Given the description of an element on the screen output the (x, y) to click on. 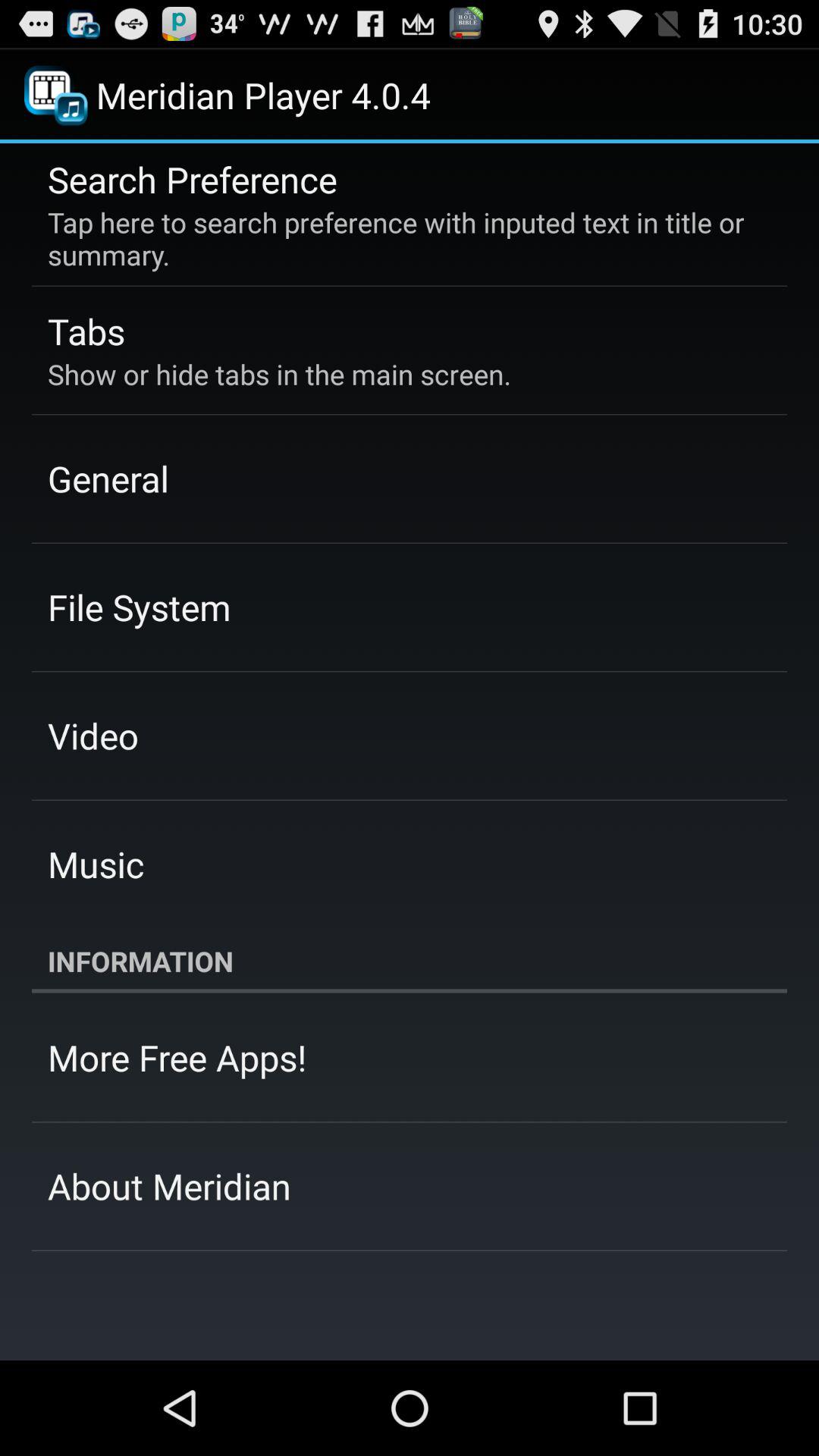
choose about meridian app (169, 1185)
